Given the description of an element on the screen output the (x, y) to click on. 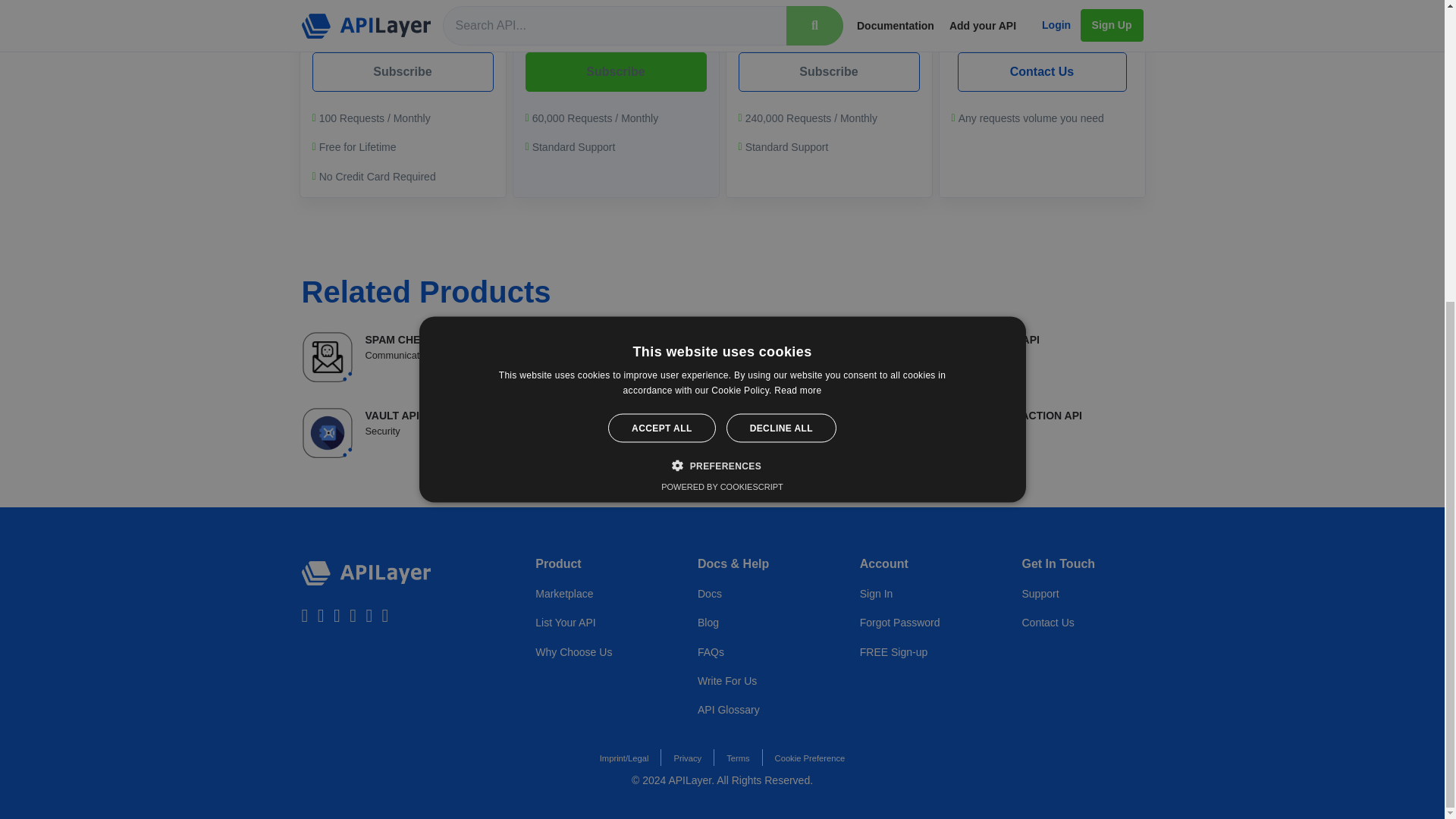
List Your API (1006, 432)
Marketplace (595, 622)
Blog (595, 593)
Subscribe (757, 622)
Contact Us (829, 71)
Consent Management Platform (437, 357)
FAQs (1006, 357)
Why Choose Us (722, 357)
Subscribe (1040, 71)
Subscribe (722, 15)
Docs (757, 652)
